Given the description of an element on the screen output the (x, y) to click on. 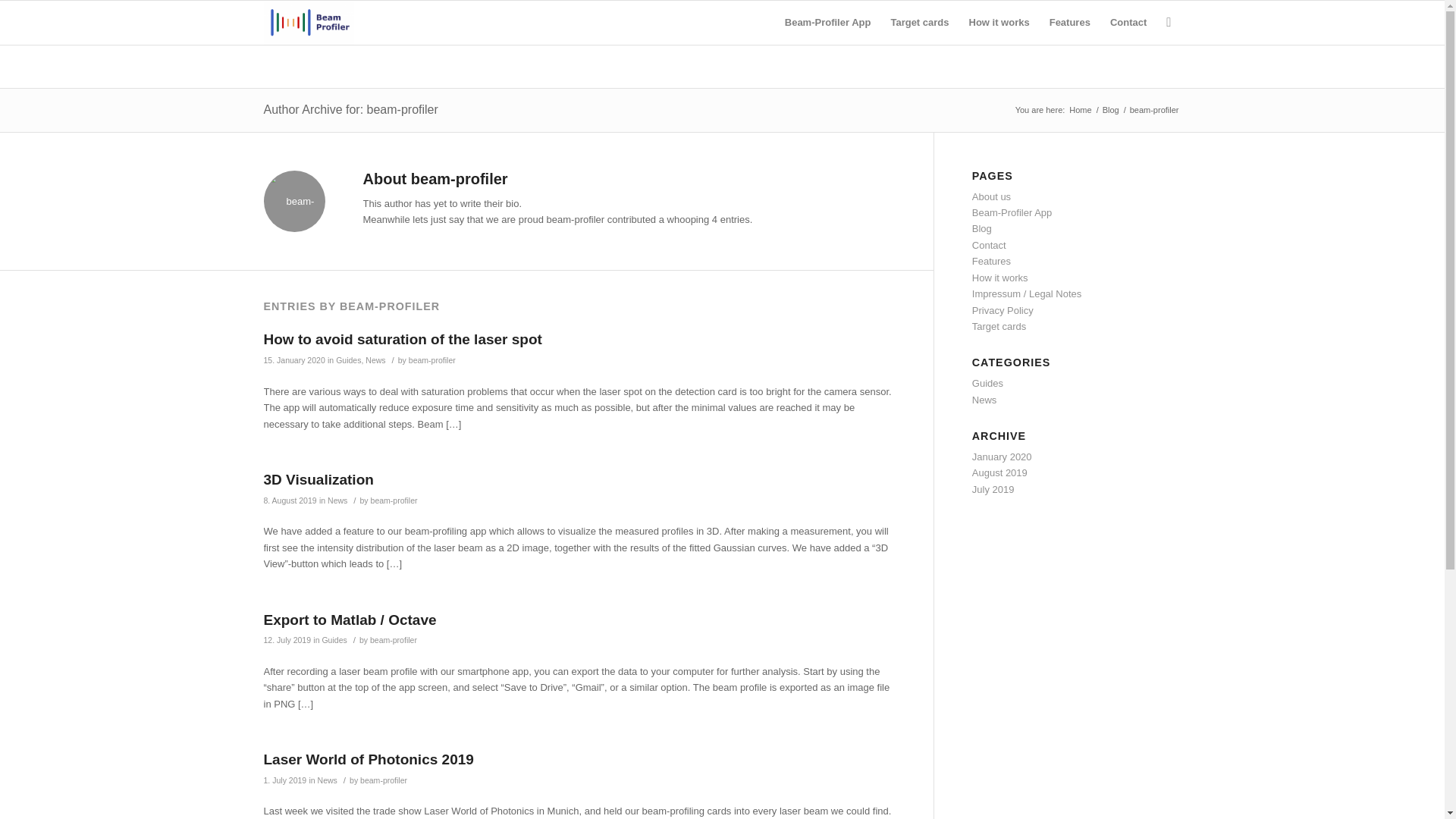
About us (991, 196)
Permanent Link: How to avoid saturation of the laser spot (402, 339)
Features (1069, 22)
Laser World of Photonics 2019 (368, 759)
Target cards (919, 22)
Contact (989, 244)
Permanent Link: Laser World of Photonics 2019 (368, 759)
Blog (1110, 110)
Permanent Link: 3D Visualization (318, 479)
Features (991, 260)
Blog (981, 228)
beam-profiler (383, 779)
beam-profiler (392, 639)
Guides (333, 639)
Posts by beam-profiler (392, 639)
